Given the description of an element on the screen output the (x, y) to click on. 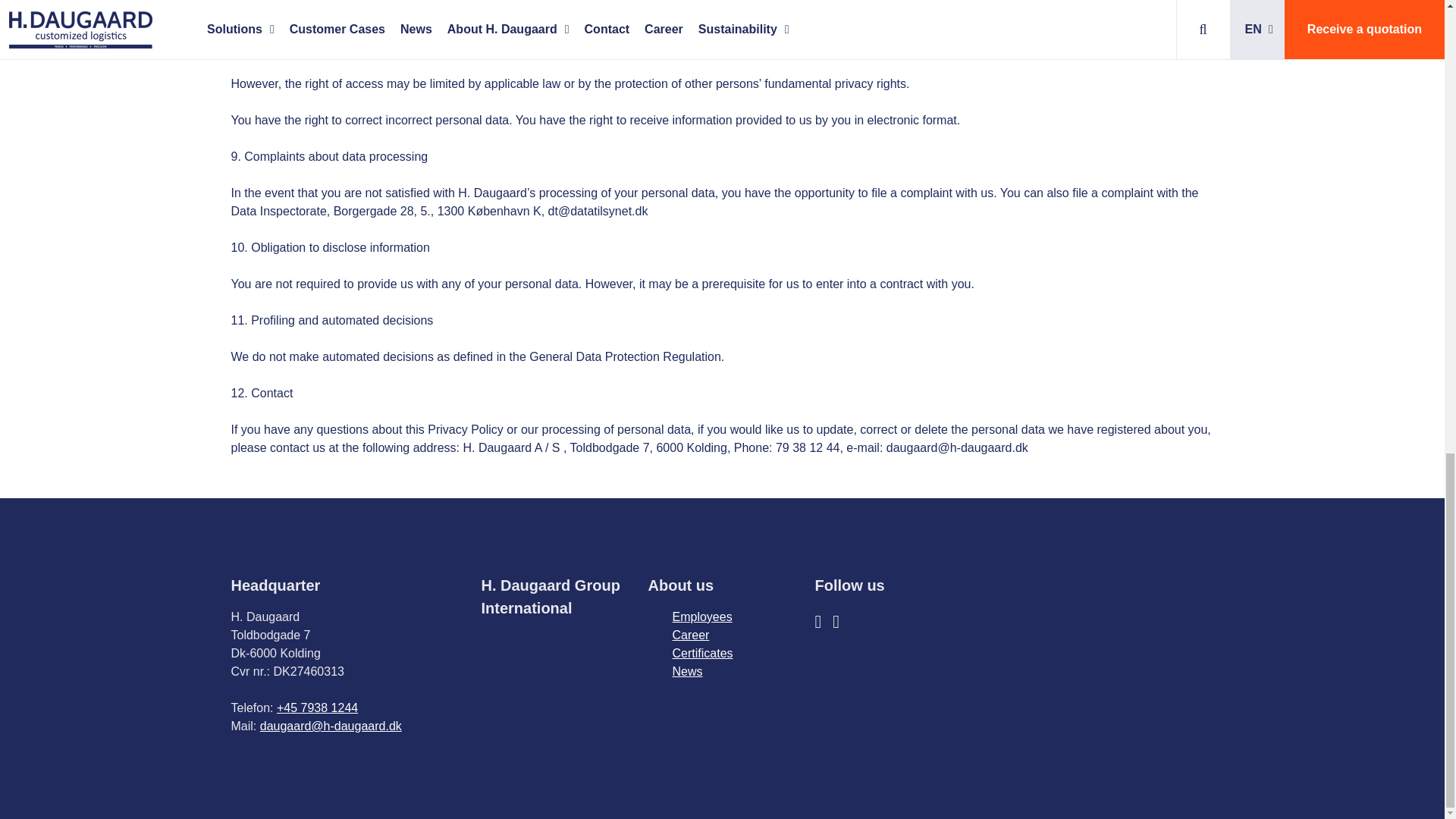
Certificates (701, 653)
Career (690, 634)
News (686, 671)
Employees (701, 616)
